Given the description of an element on the screen output the (x, y) to click on. 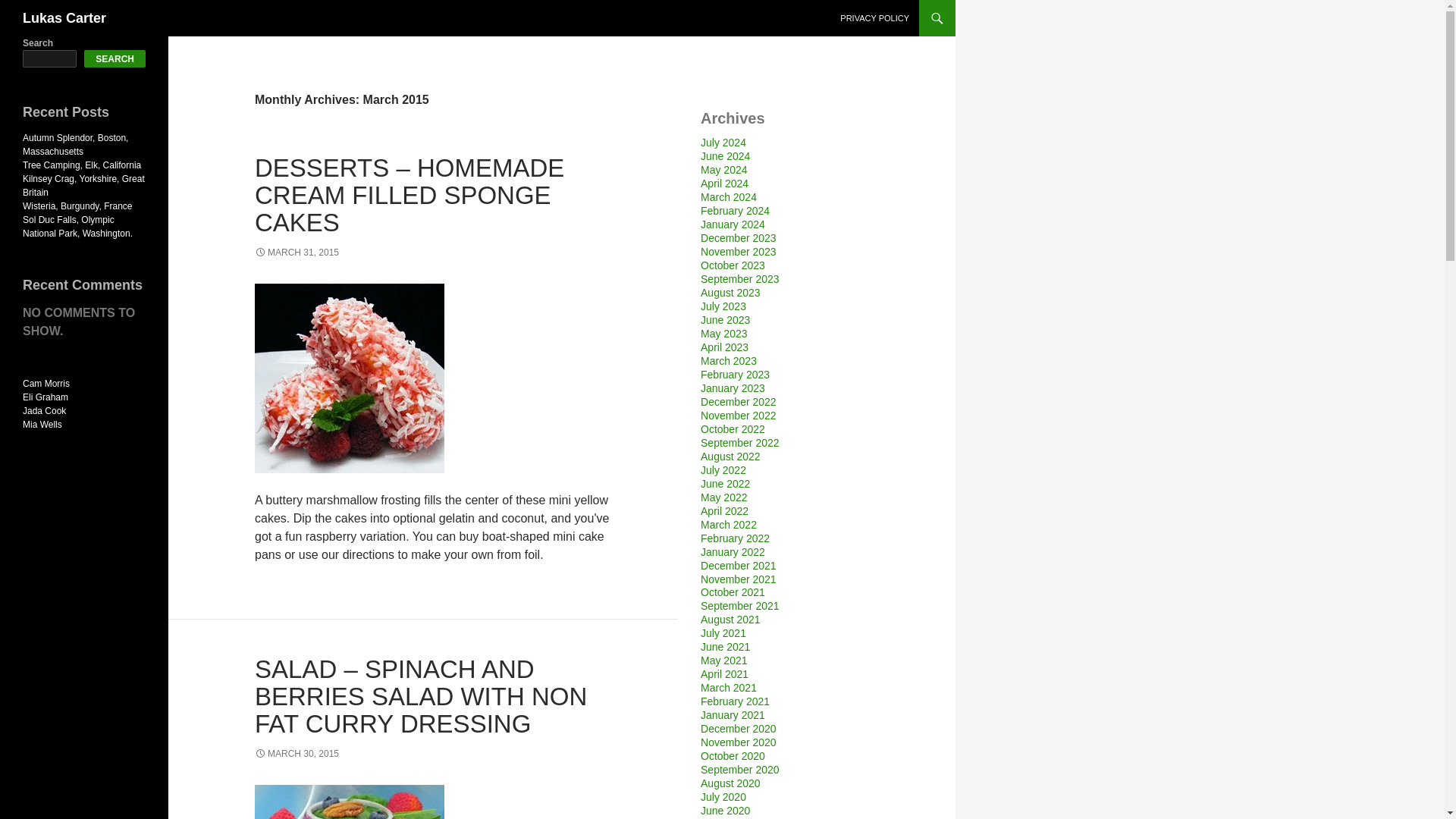
November 2023 (738, 251)
Lukas Carter (64, 18)
December 2023 (738, 237)
June 2024 (724, 155)
PRIVACY POLICY (874, 18)
August 2023 (730, 292)
September 2023 (739, 278)
February 2024 (735, 210)
April 2024 (724, 183)
July 2023 (722, 306)
MARCH 30, 2015 (296, 753)
June 2023 (724, 319)
July 2024 (722, 142)
March 2024 (728, 196)
May 2024 (723, 169)
